Given the description of an element on the screen output the (x, y) to click on. 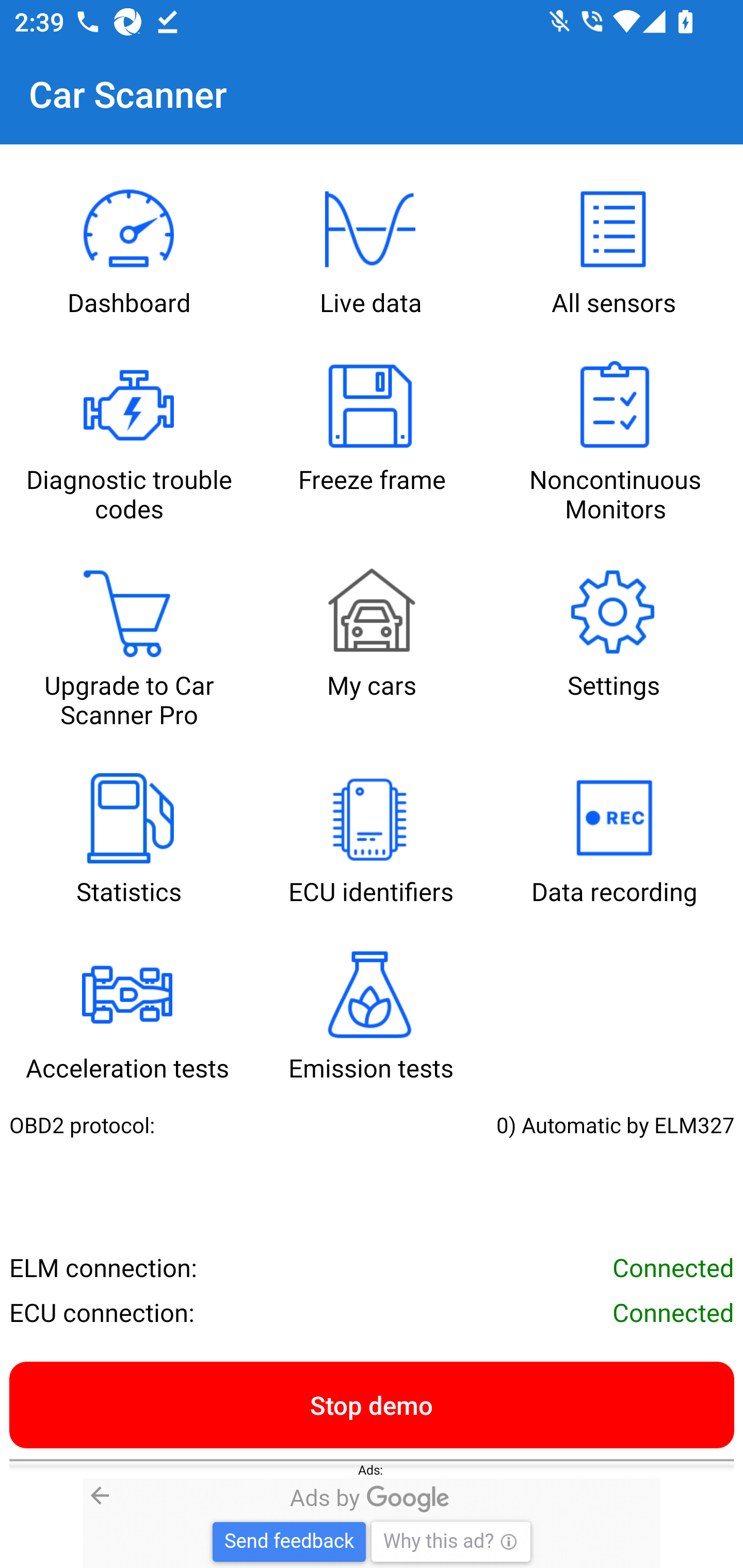
Stop demo (371, 1404)
